Given the description of an element on the screen output the (x, y) to click on. 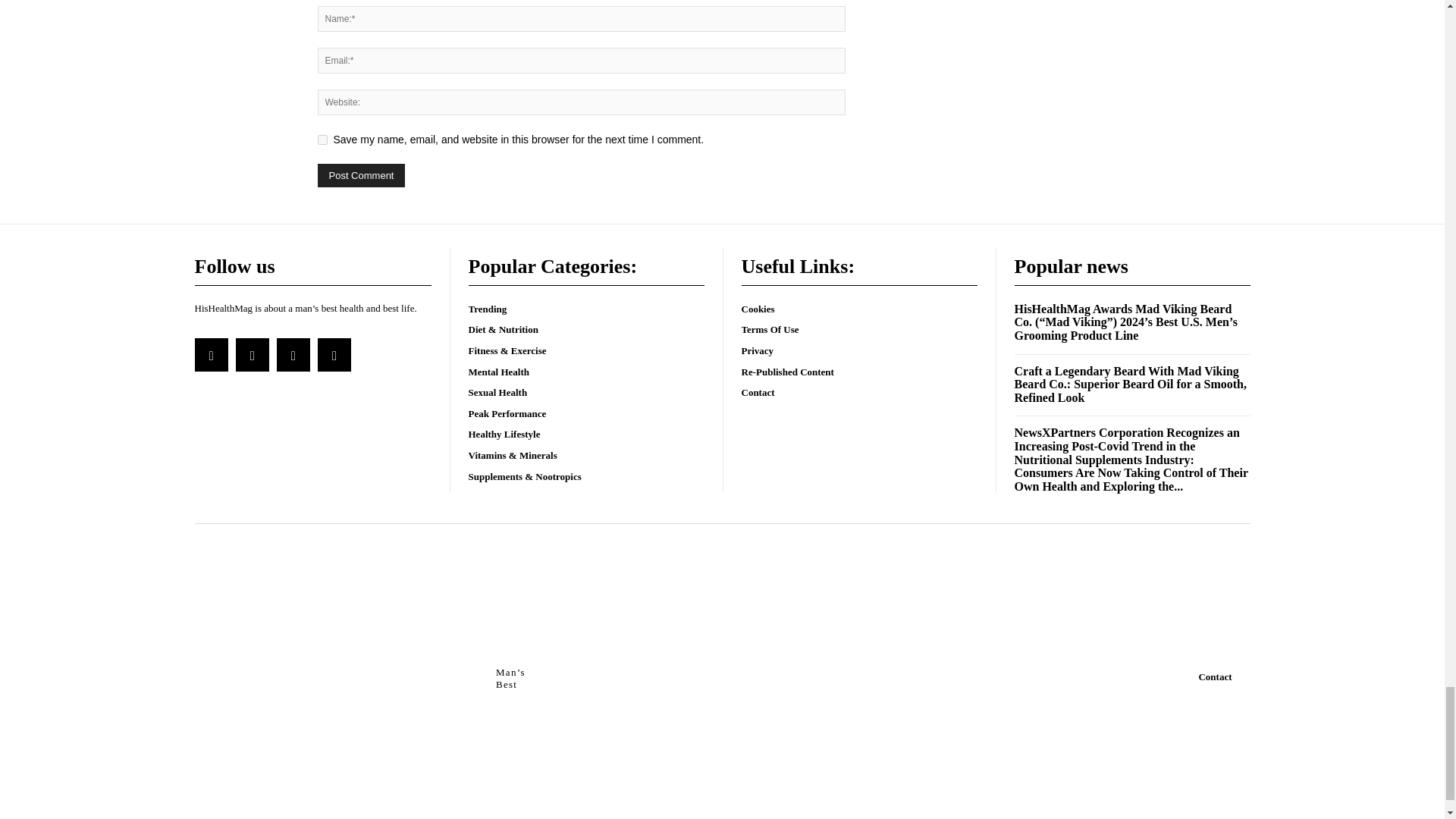
Post Comment (360, 175)
yes (321, 139)
